Given the description of an element on the screen output the (x, y) to click on. 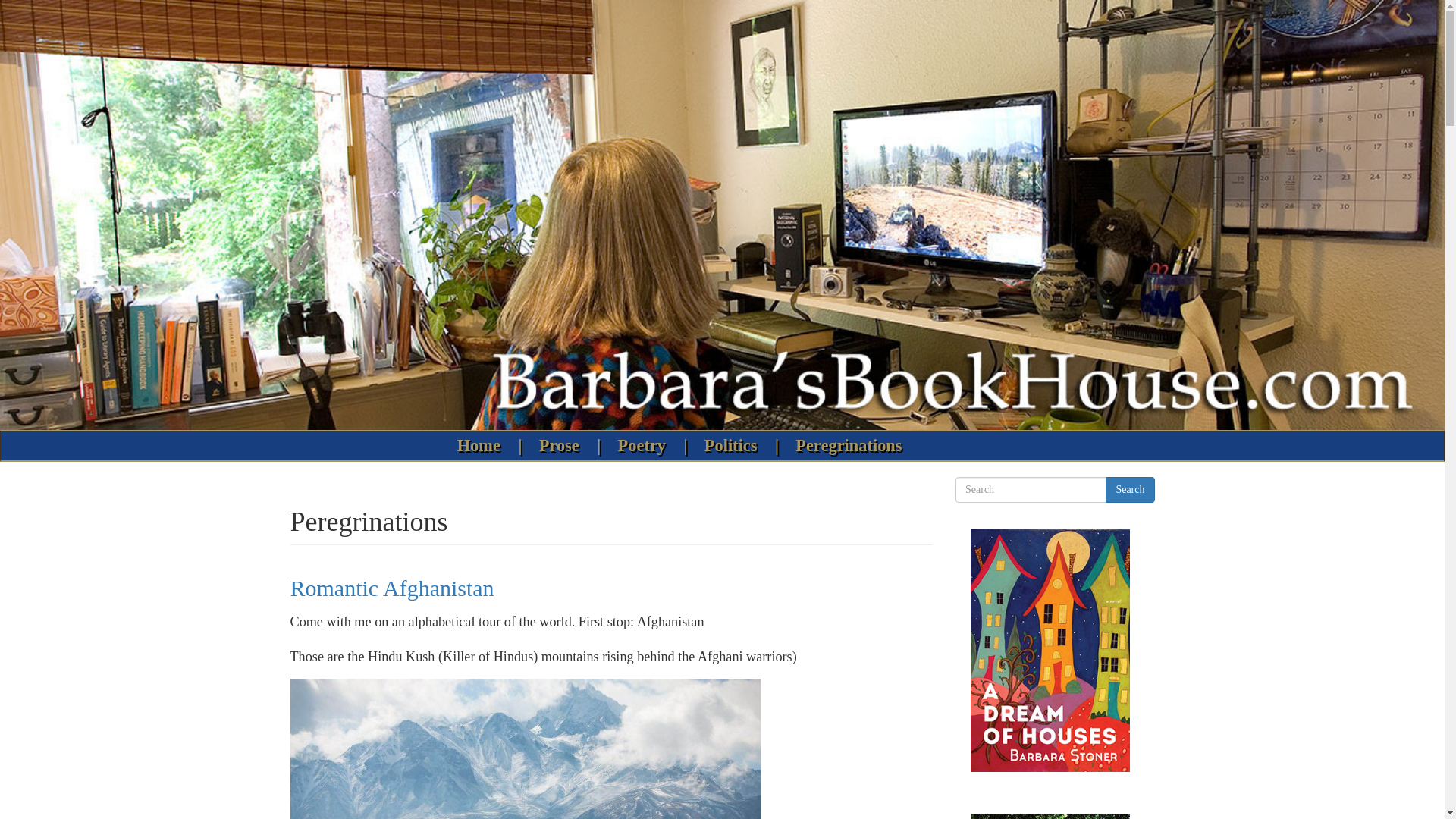
Romantic Afghanistan (391, 587)
Poetry (645, 445)
Prose (563, 445)
Peregrinations (848, 445)
Politics (734, 445)
Home (481, 445)
